Given the description of an element on the screen output the (x, y) to click on. 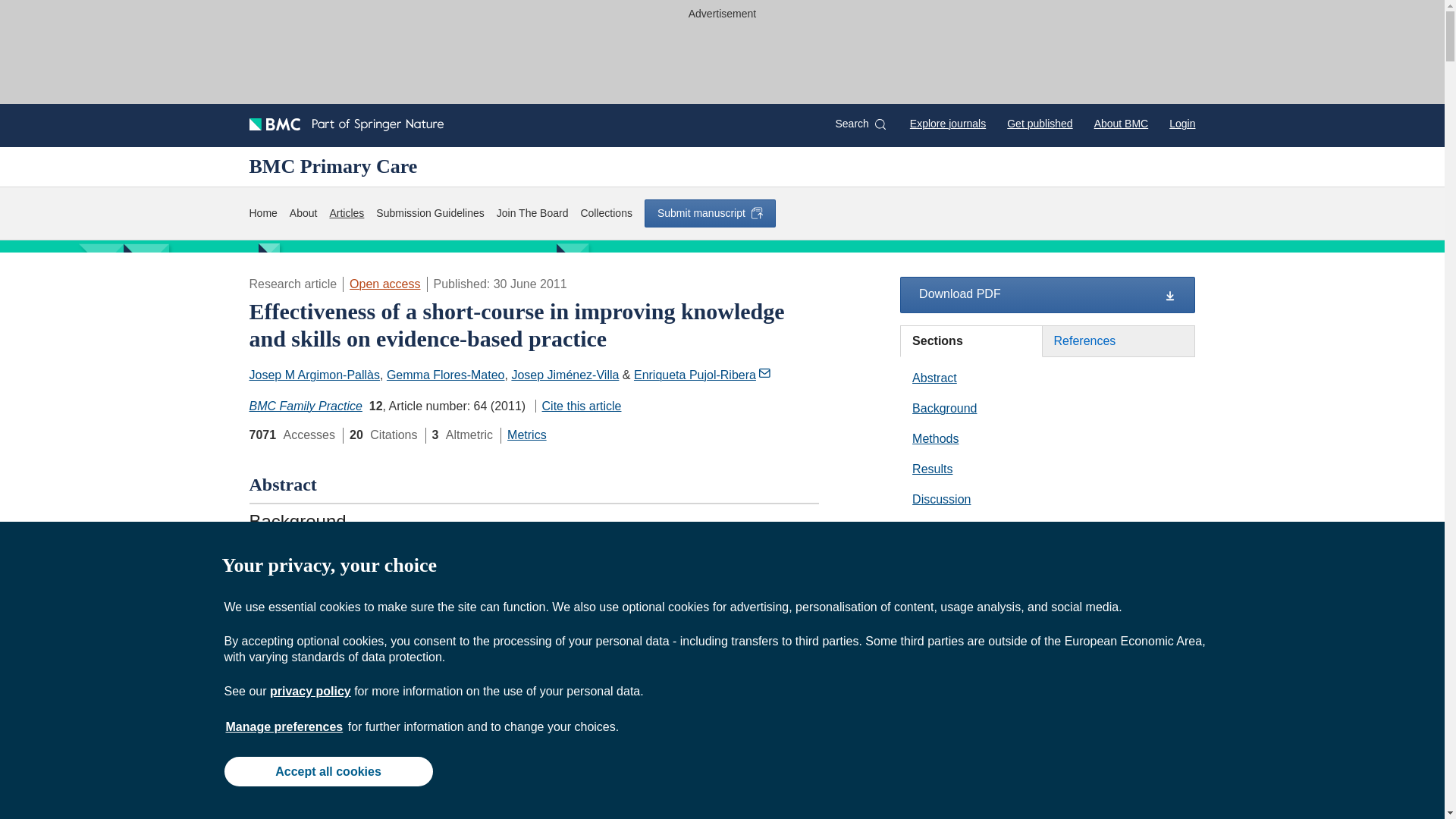
Explore journals (947, 123)
Login (1182, 123)
Home (262, 212)
BMC Primary Care (332, 166)
Collections (605, 212)
About BMC (1121, 123)
About (303, 212)
Metrics (526, 434)
Articles (346, 212)
Search (859, 123)
